Given the description of an element on the screen output the (x, y) to click on. 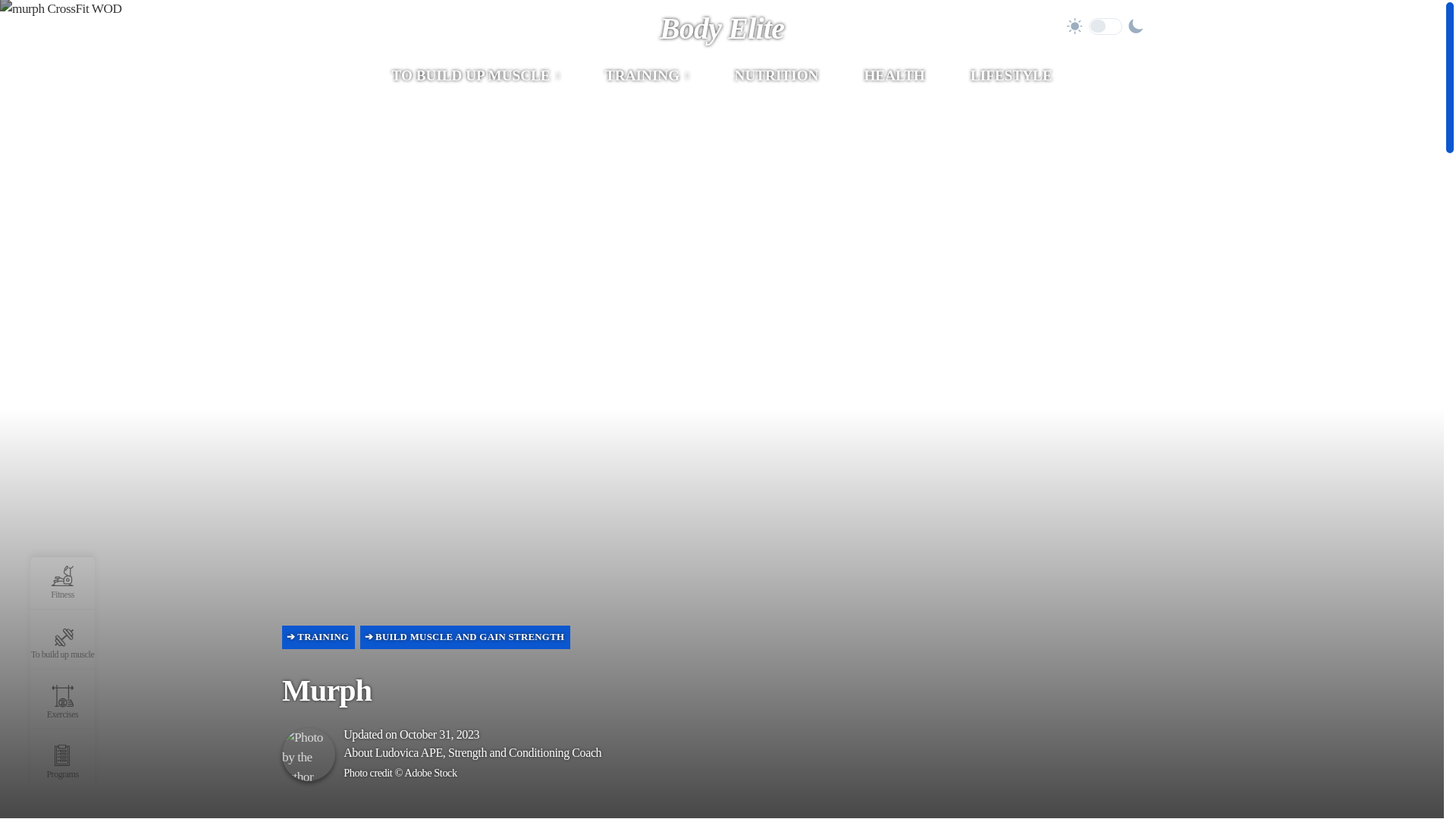
Body Elite (721, 28)
See all articles by Ludovica APE (408, 752)
TO BUILD UP MUSCLE (475, 75)
TRAINING (646, 75)
